Given the description of an element on the screen output the (x, y) to click on. 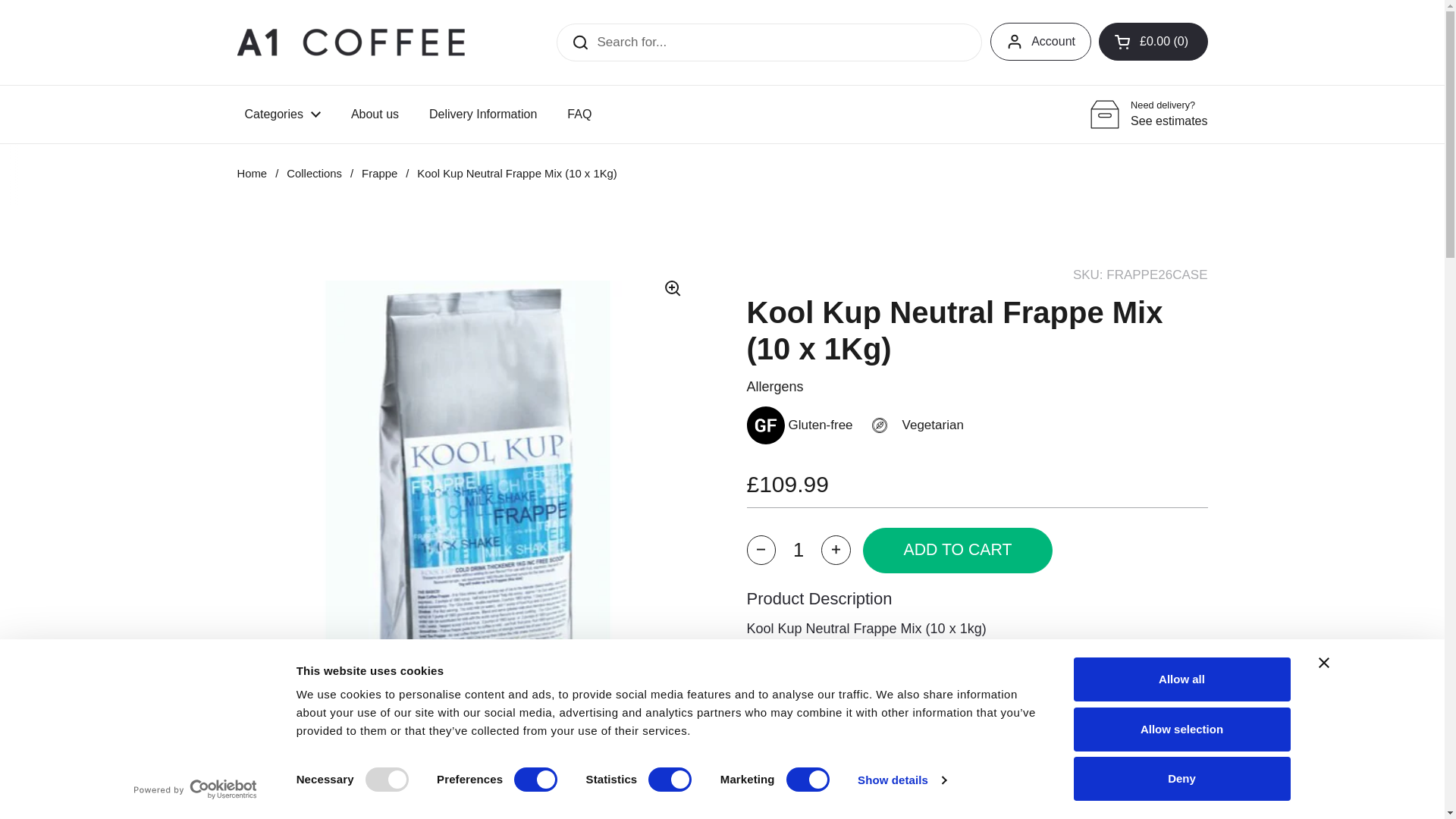
Open cart (1153, 41)
1 (798, 550)
Show details (900, 780)
A1 Coffee (349, 41)
